Given the description of an element on the screen output the (x, y) to click on. 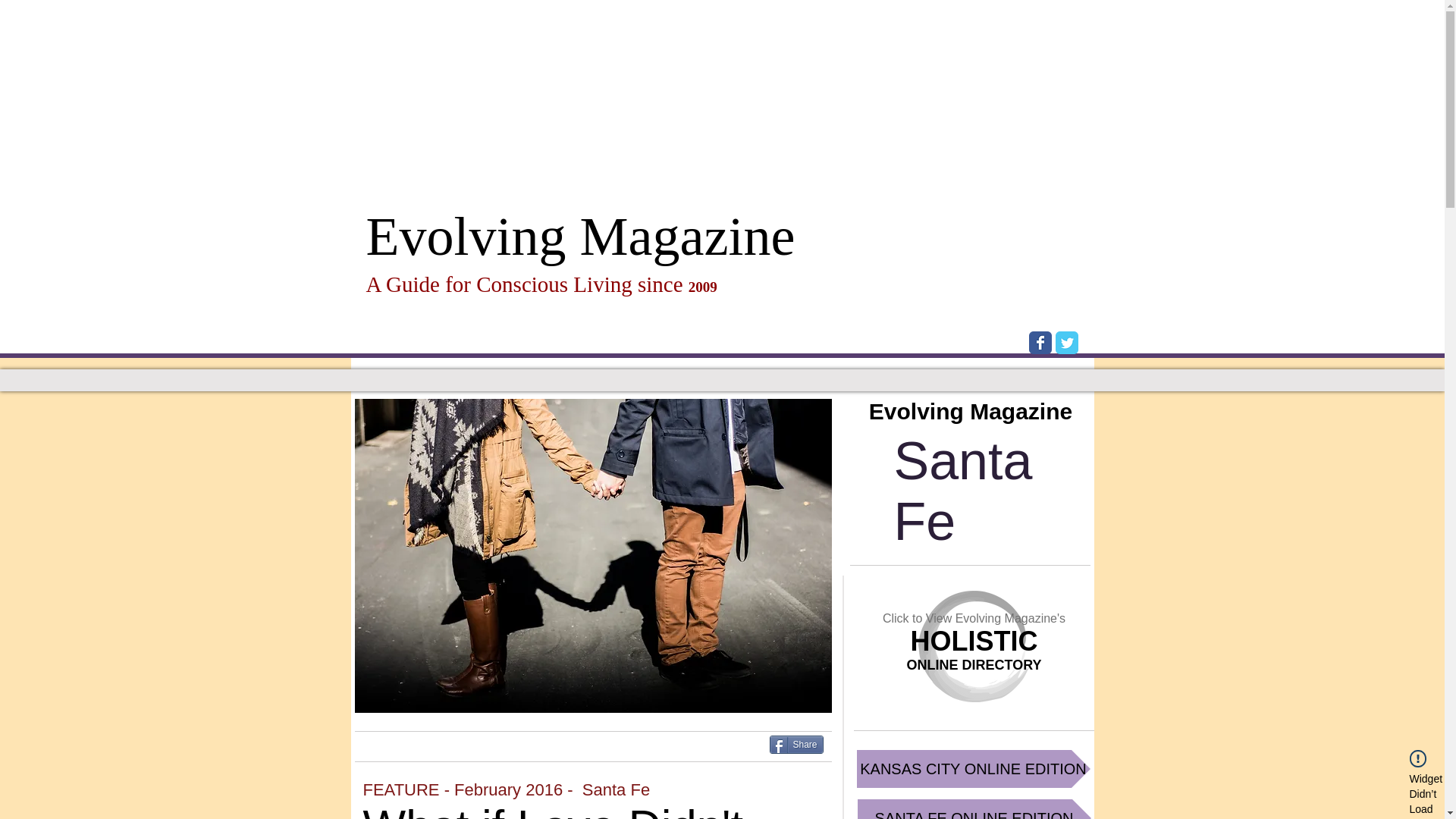
SANTA FE ONLINE EDITION (973, 809)
Click to View Evolving Magazine's (973, 617)
KANSAS CITY ONLINE EDITION (973, 768)
Twitter Tweet (401, 745)
Site Search (1014, 291)
HOLISTIC (973, 640)
Share (795, 744)
Facebook Like (558, 753)
Share (795, 744)
ONLINE DIRECTORY (973, 664)
